Given the description of an element on the screen output the (x, y) to click on. 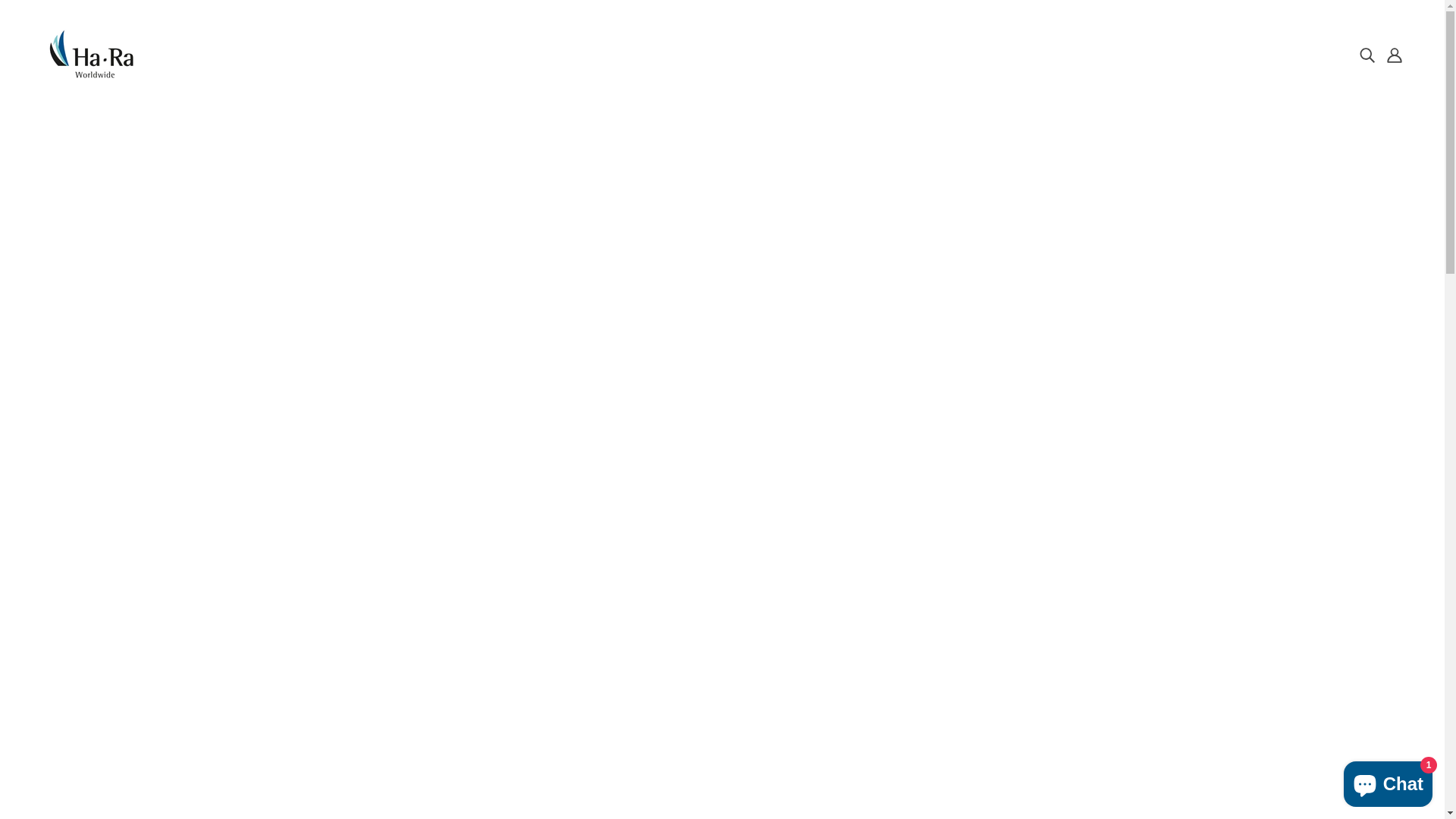
Ha-Ra Australia Element type: hover (91, 74)
Shopify online store chat Element type: hover (1388, 780)
